Given the description of an element on the screen output the (x, y) to click on. 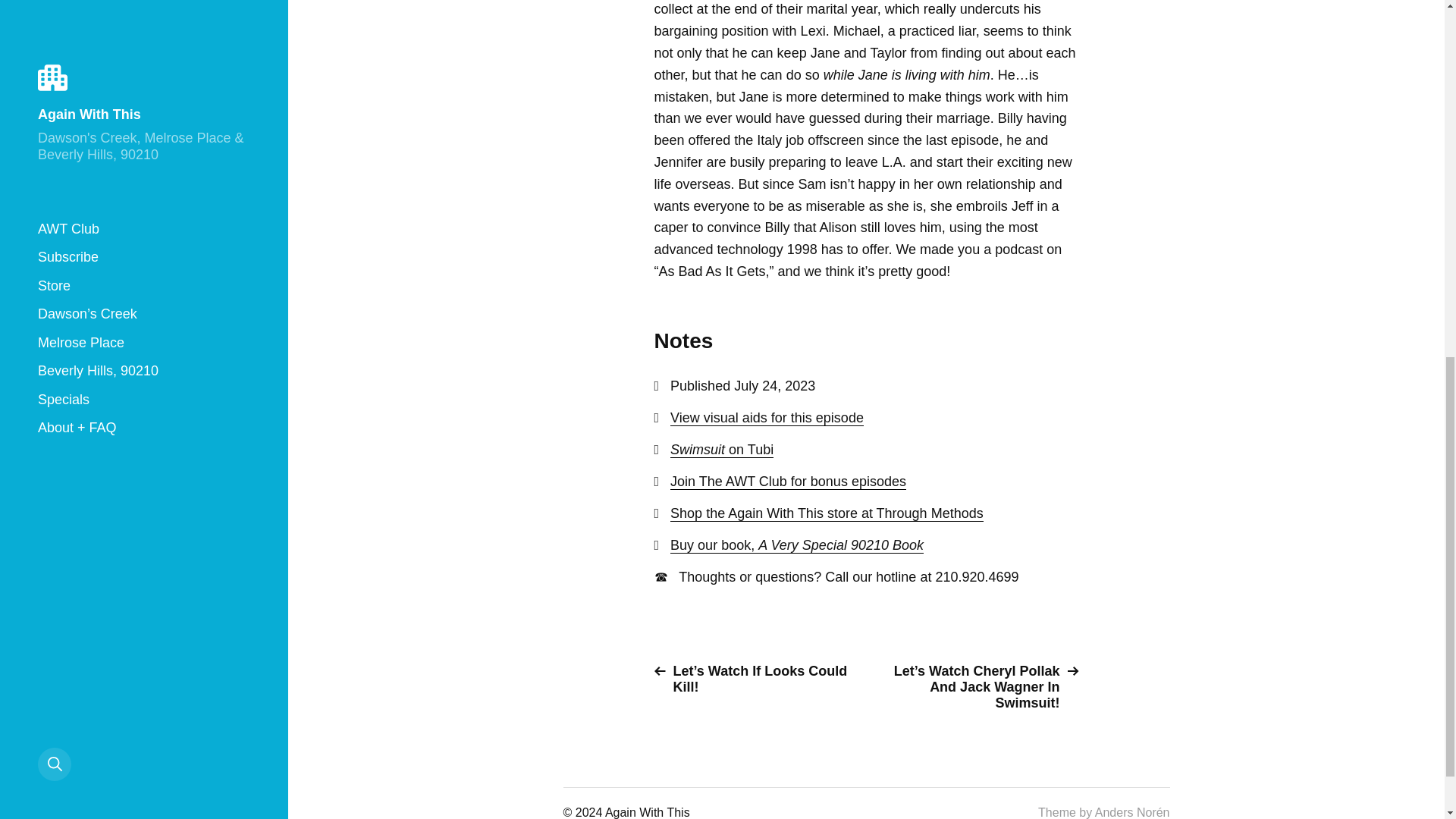
Buy our book, A Very Special 90210 Book (796, 545)
Swimsuit on Tubi (721, 449)
View visual aids for this episode (766, 417)
Join The AWT Club for bonus episodes (787, 481)
Shop the Again With This store at Through Methods (826, 513)
